Given the description of an element on the screen output the (x, y) to click on. 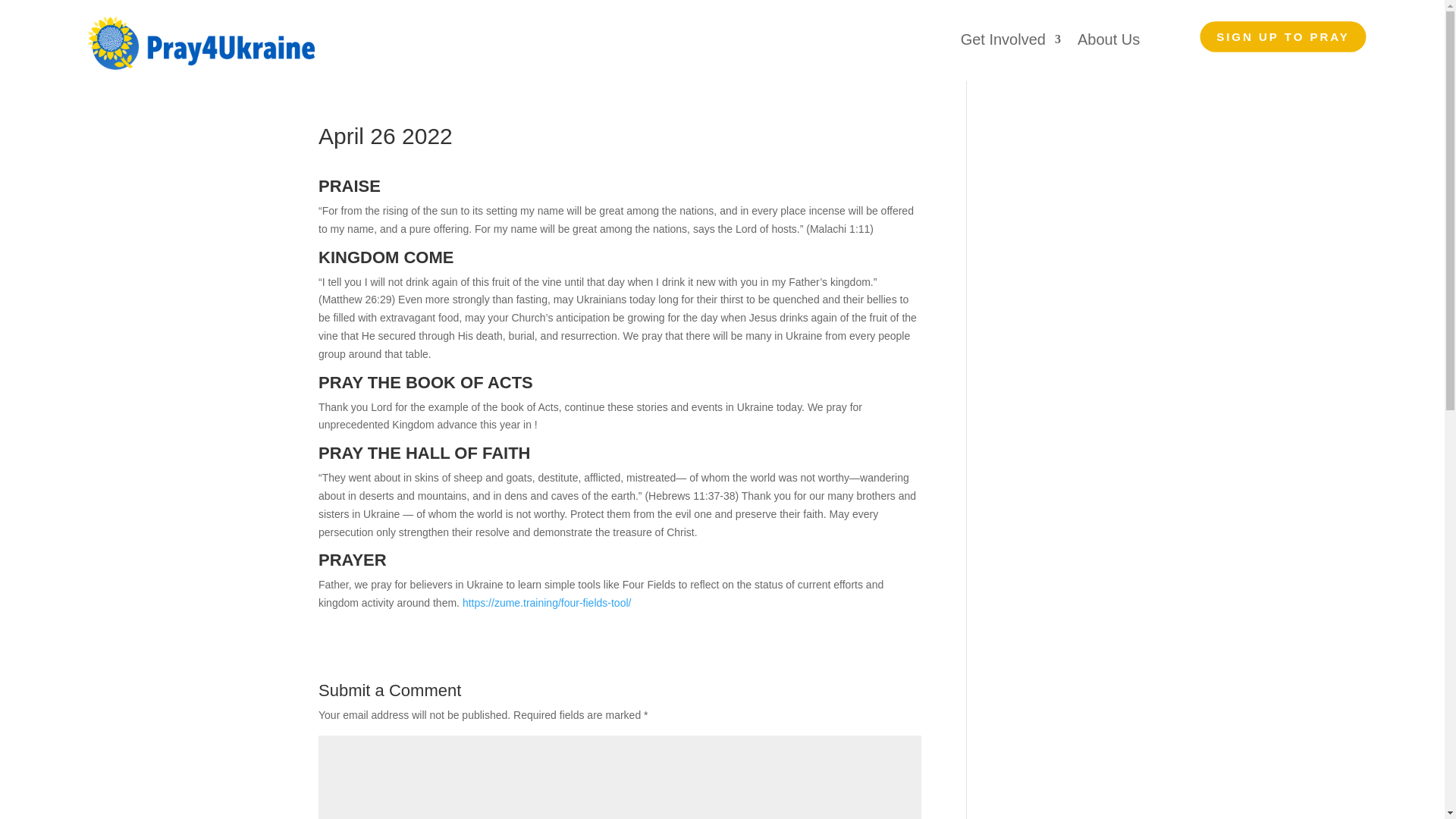
About Us (1108, 42)
p4u-logo-hor (200, 42)
Get Involved (1010, 42)
SIGN UP TO PRAY (1254, 31)
